Given the description of an element on the screen output the (x, y) to click on. 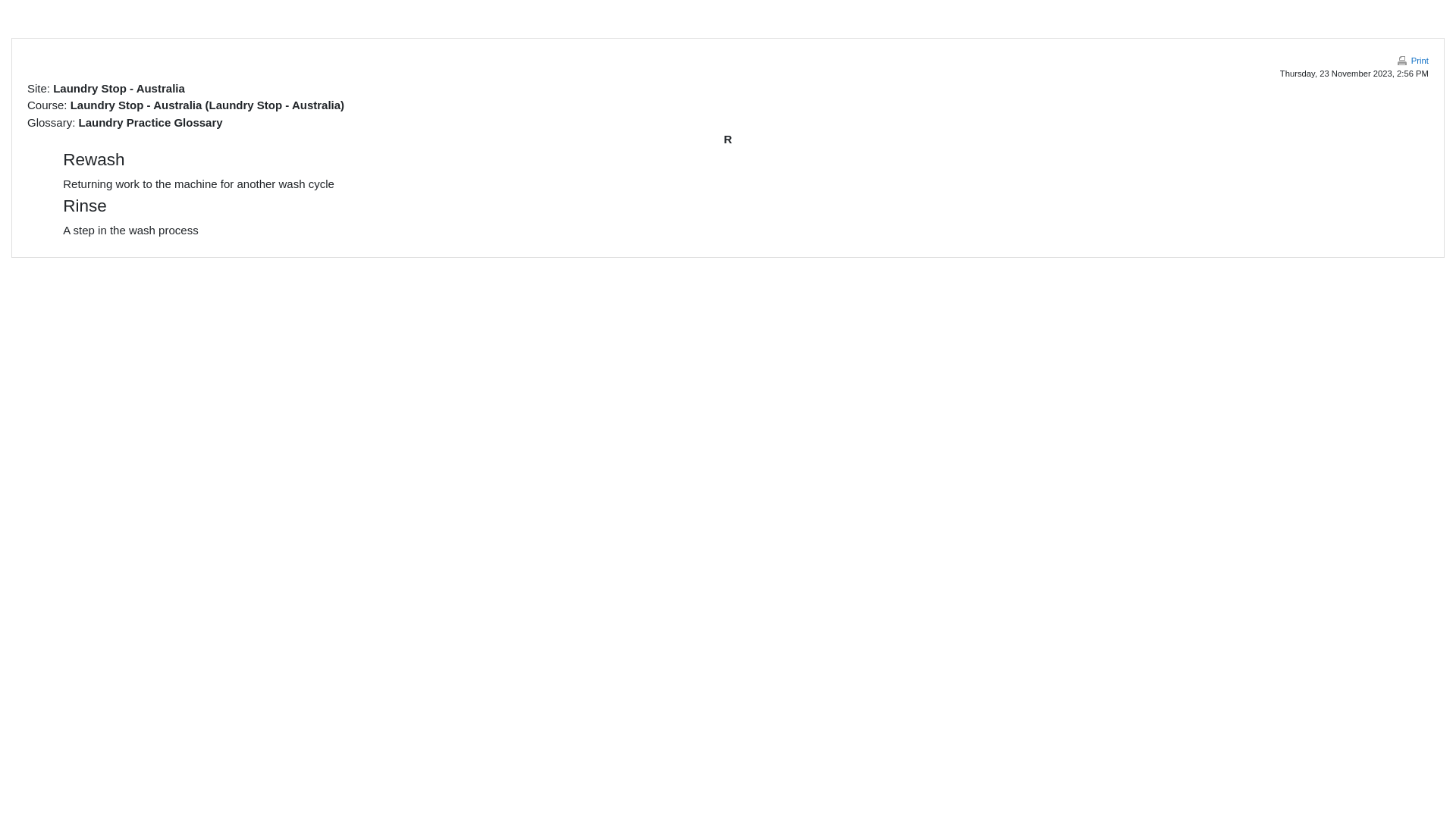
Print Element type: text (1412, 60)
